Given the description of an element on the screen output the (x, y) to click on. 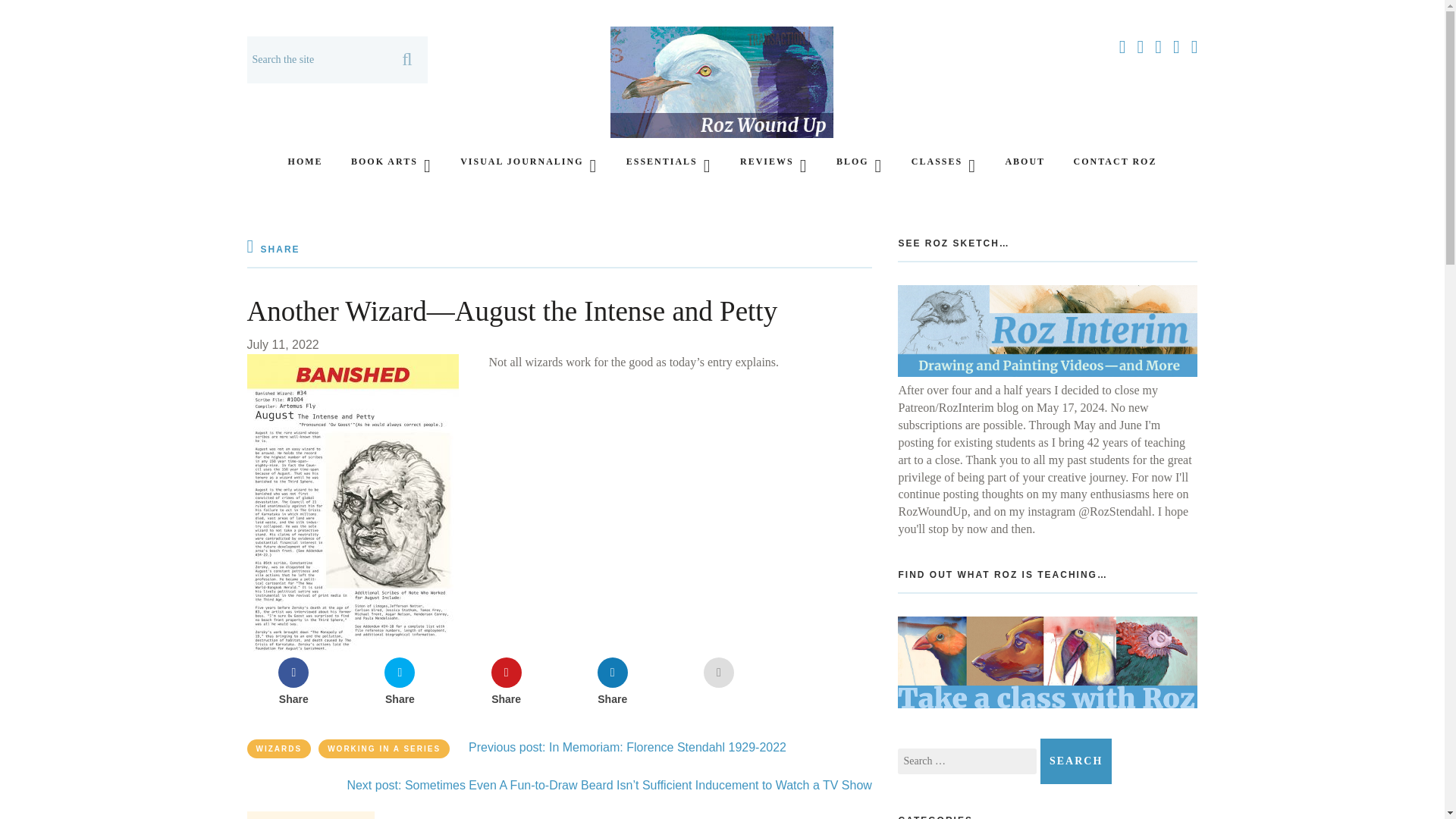
VISUAL JOURNALING (528, 161)
BOOK ARTS (391, 161)
BLOG (858, 161)
HOME (305, 161)
ESSENTIALS (668, 161)
Roz Interim on Patreo (1047, 372)
Search (1076, 760)
REVIEWS (773, 161)
Search (1076, 760)
